Given the description of an element on the screen output the (x, y) to click on. 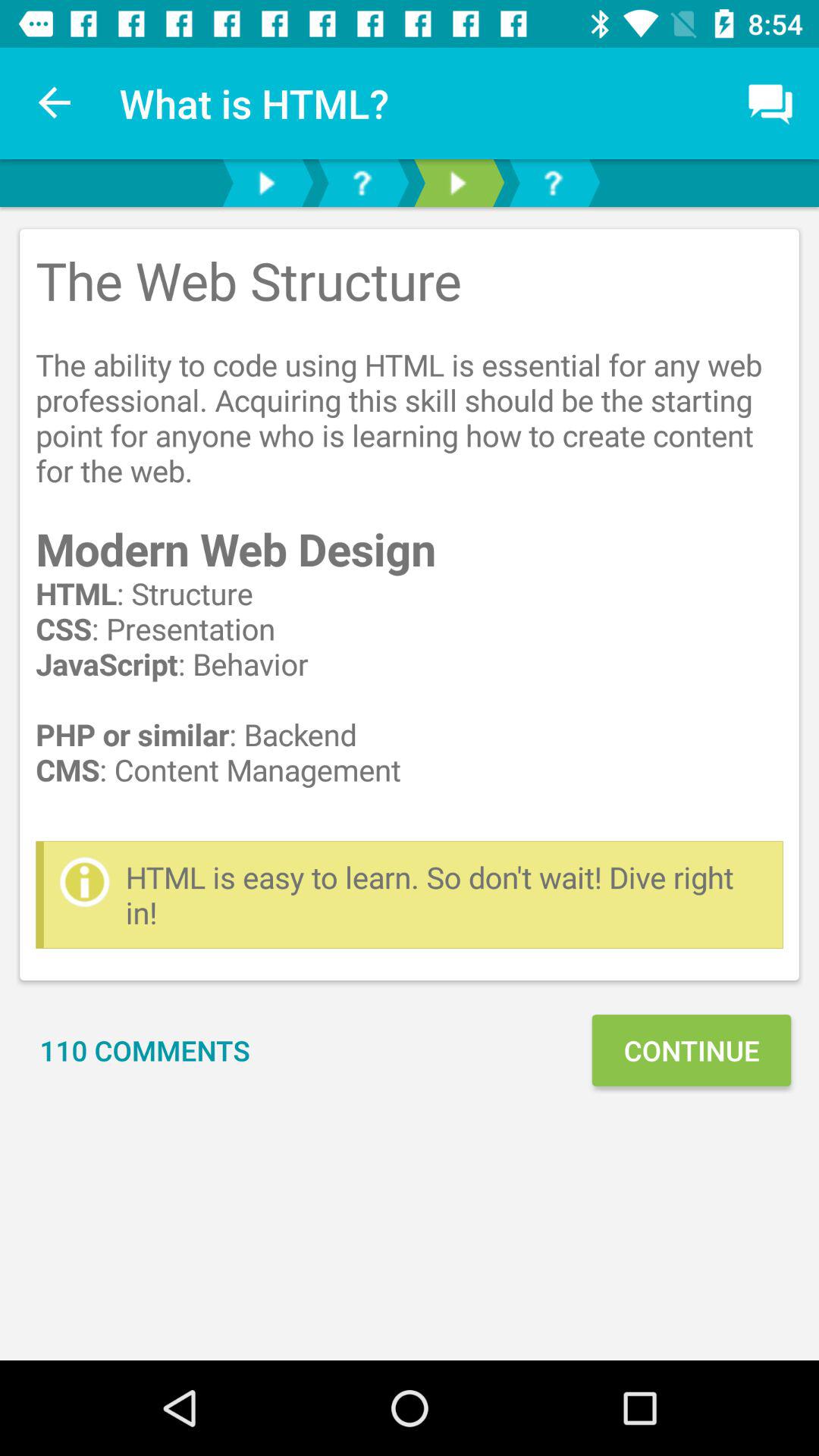
click the item to the left of the what is html? icon (55, 103)
